Given the description of an element on the screen output the (x, y) to click on. 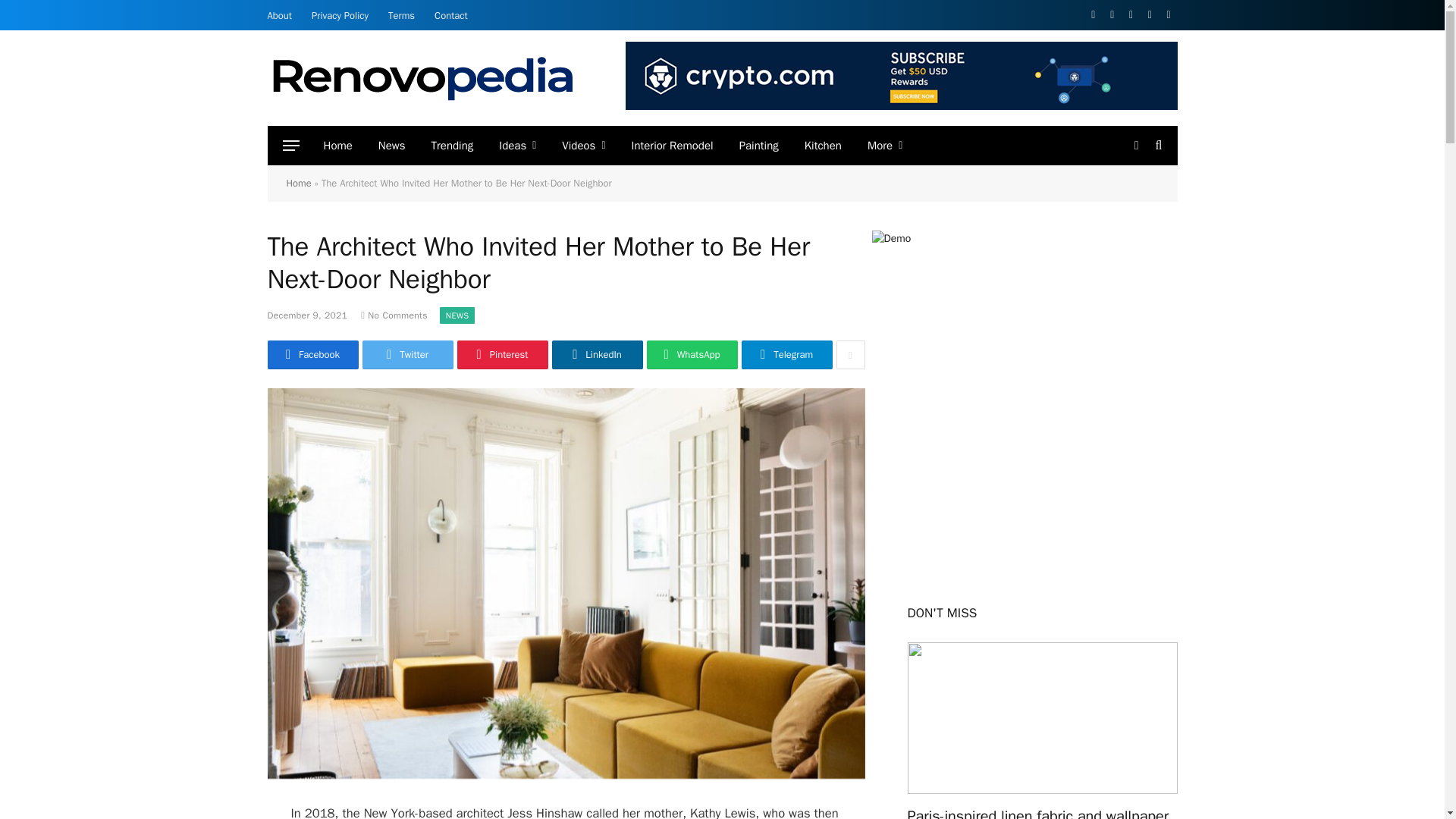
Renovopedia (422, 77)
Home (338, 145)
Ideas (517, 145)
Contact (451, 15)
Terms (401, 15)
Videos (582, 145)
About (279, 15)
Privacy Policy (339, 15)
Trending (452, 145)
News (392, 145)
